Given the description of an element on the screen output the (x, y) to click on. 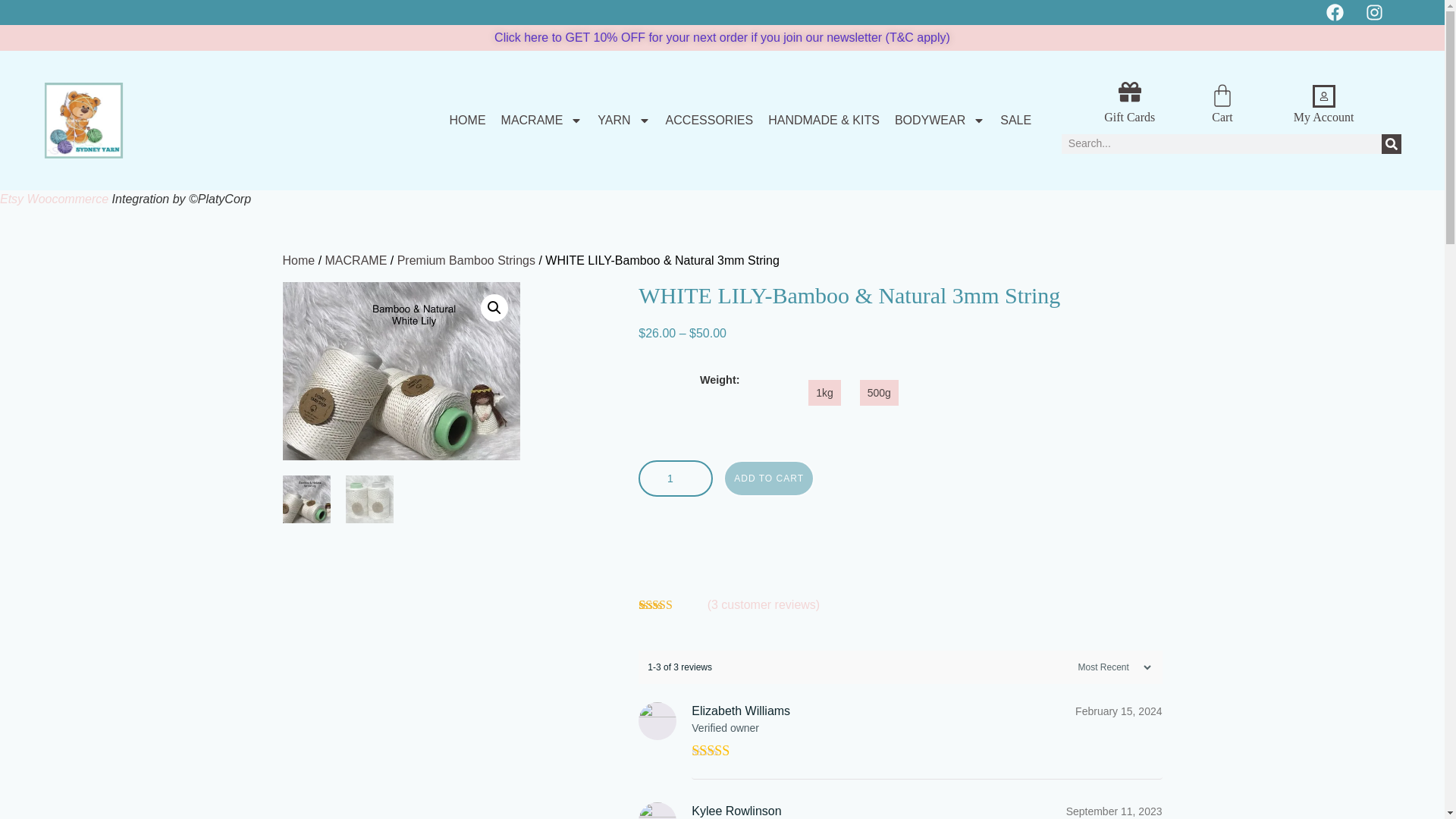
HOME (467, 120)
PayPal (900, 546)
MACRAME (541, 120)
WHT-LILY-BMB-NTR-3mm-string-2 (638, 370)
WHT-LILY-BMB-NTR-3mm-string-1 (400, 370)
1 (676, 478)
YARN (622, 120)
